Given the description of an element on the screen output the (x, y) to click on. 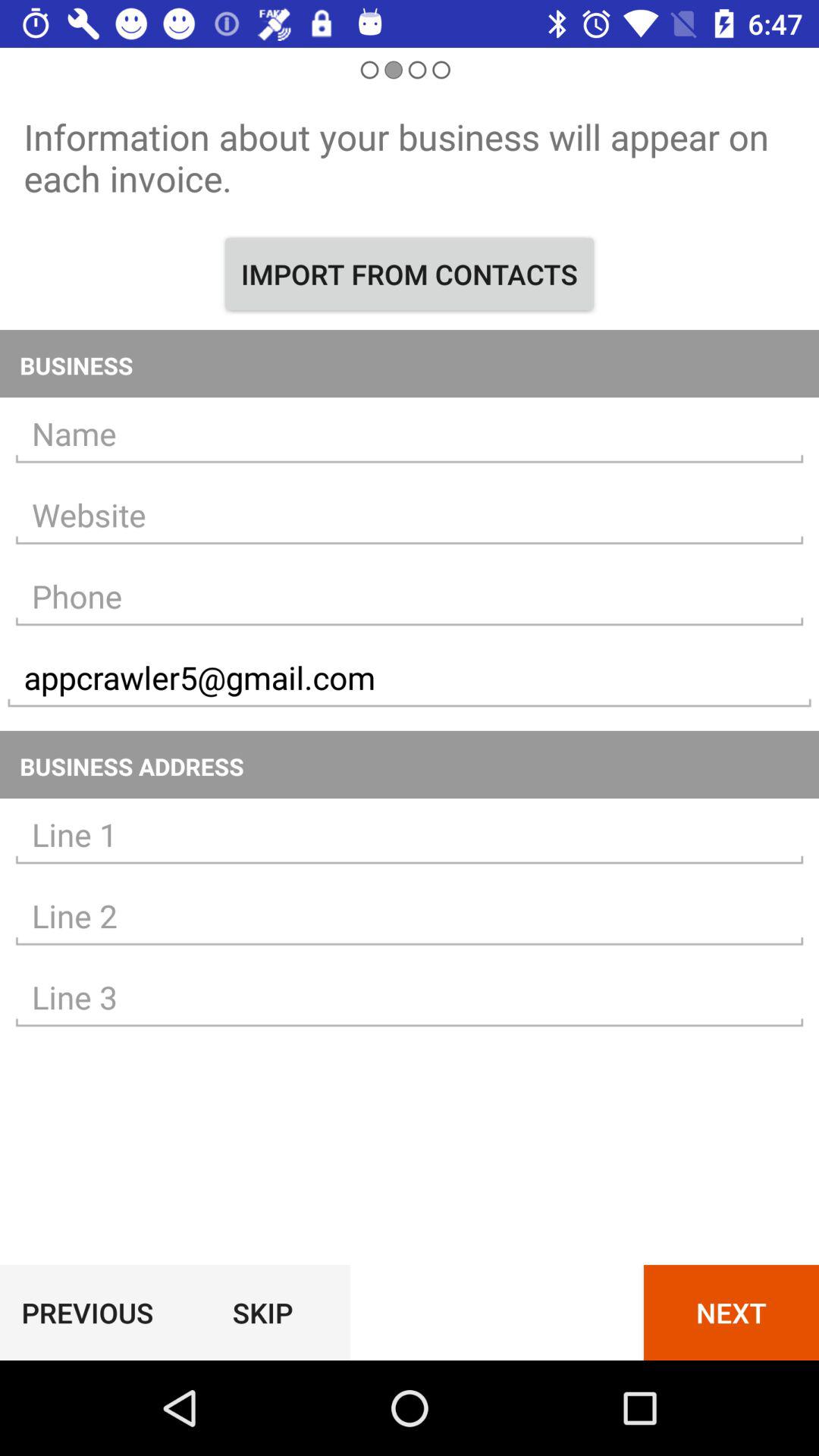
turn off skip icon (262, 1312)
